Given the description of an element on the screen output the (x, y) to click on. 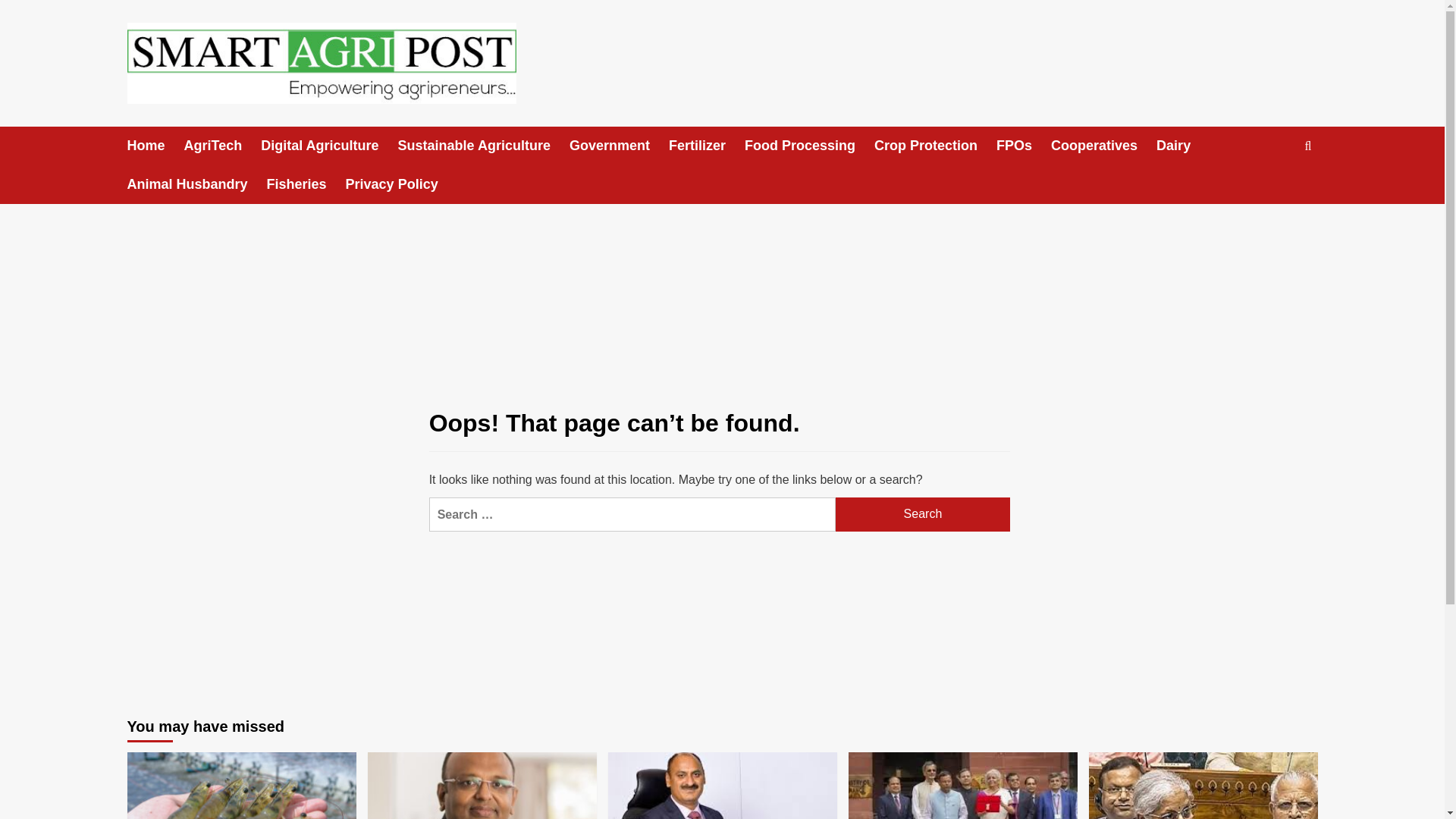
Food Processing (809, 145)
Privacy Policy (401, 184)
Dairy (1182, 145)
Home (156, 145)
Digital Agriculture (328, 145)
Sustainable Agriculture (483, 145)
Government (618, 145)
Animal Husbandry (197, 184)
Crop Protection (935, 145)
Search (1272, 192)
Fertilizer (706, 145)
Search (922, 514)
Search (922, 514)
Fisheries (306, 184)
Search (922, 514)
